Given the description of an element on the screen output the (x, y) to click on. 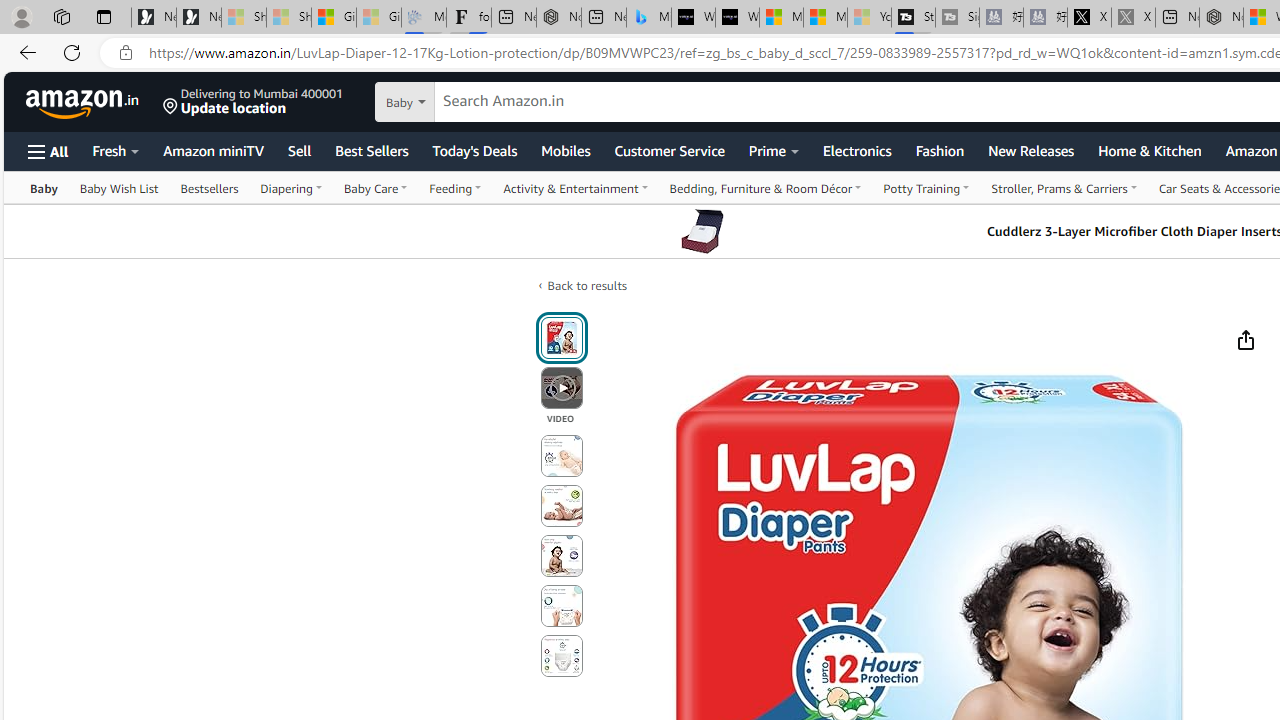
X - Sleeping (1133, 17)
Nordace - #1 Japanese Best-Seller - Siena Smart Backpack (558, 17)
